Given the description of an element on the screen output the (x, y) to click on. 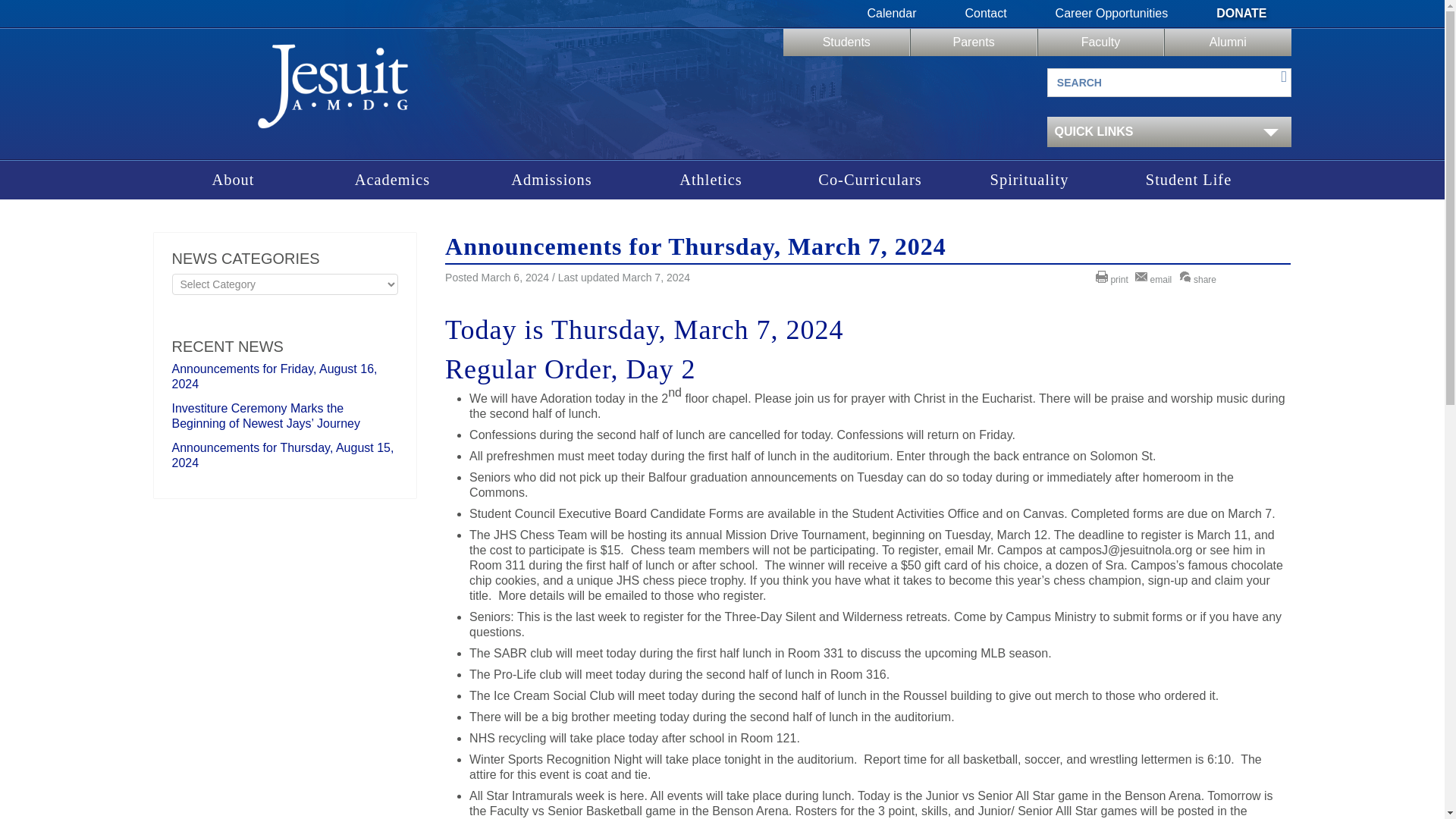
email (1154, 279)
DONATE (1241, 13)
Students (846, 42)
Career Opportunities (1111, 13)
Faculty (1099, 42)
Jesuit High School of New Orleans (332, 91)
Academics (392, 179)
Parents (973, 42)
Student Life (1188, 179)
share (1199, 279)
